Given the description of an element on the screen output the (x, y) to click on. 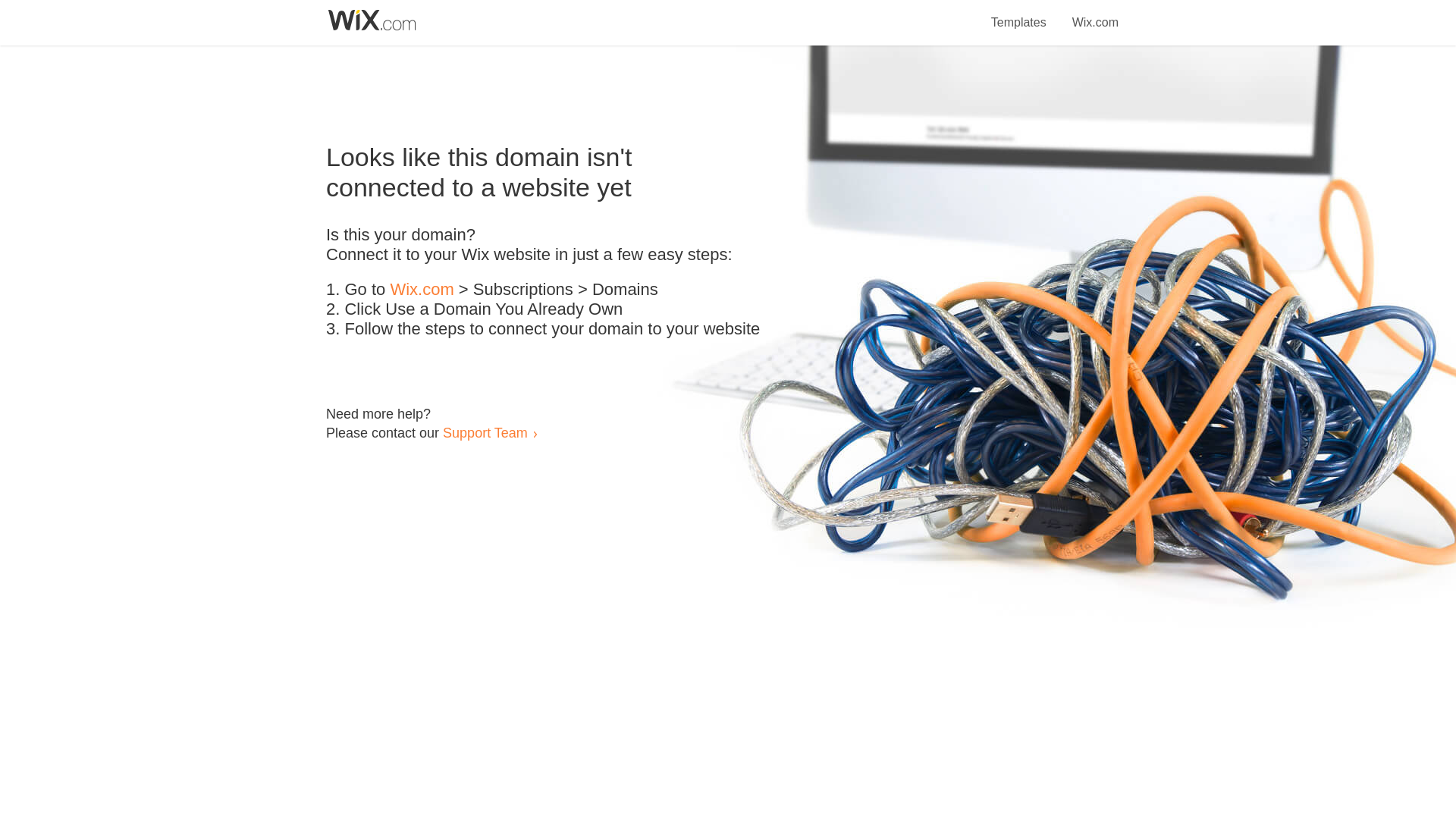
Templates (1018, 14)
Wix.com (1095, 14)
Wix.com (421, 289)
Support Team (484, 432)
